Given the description of an element on the screen output the (x, y) to click on. 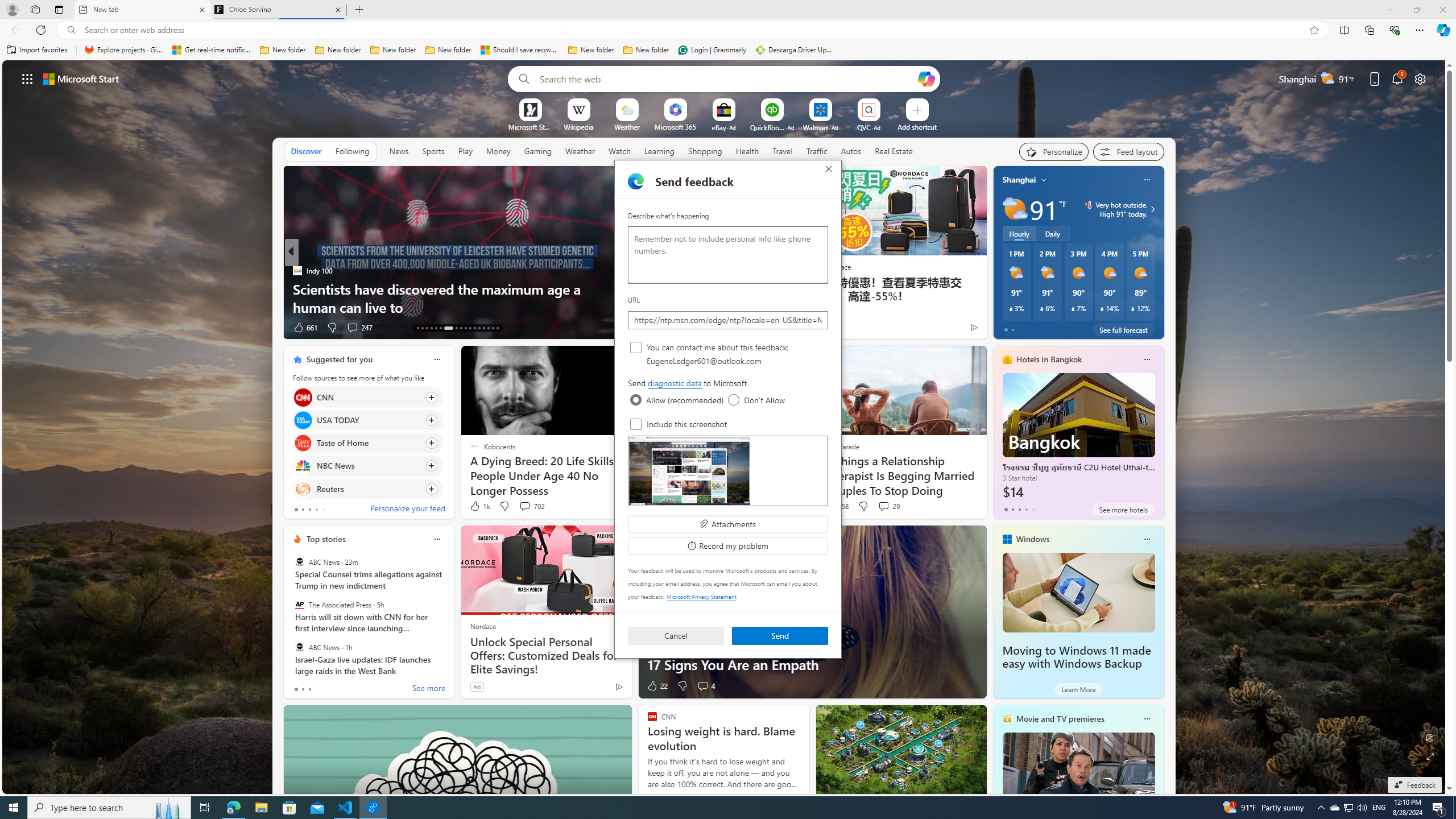
AutomationID: tab-22 (465, 328)
Real Estate (893, 151)
